Given the description of an element on the screen output the (x, y) to click on. 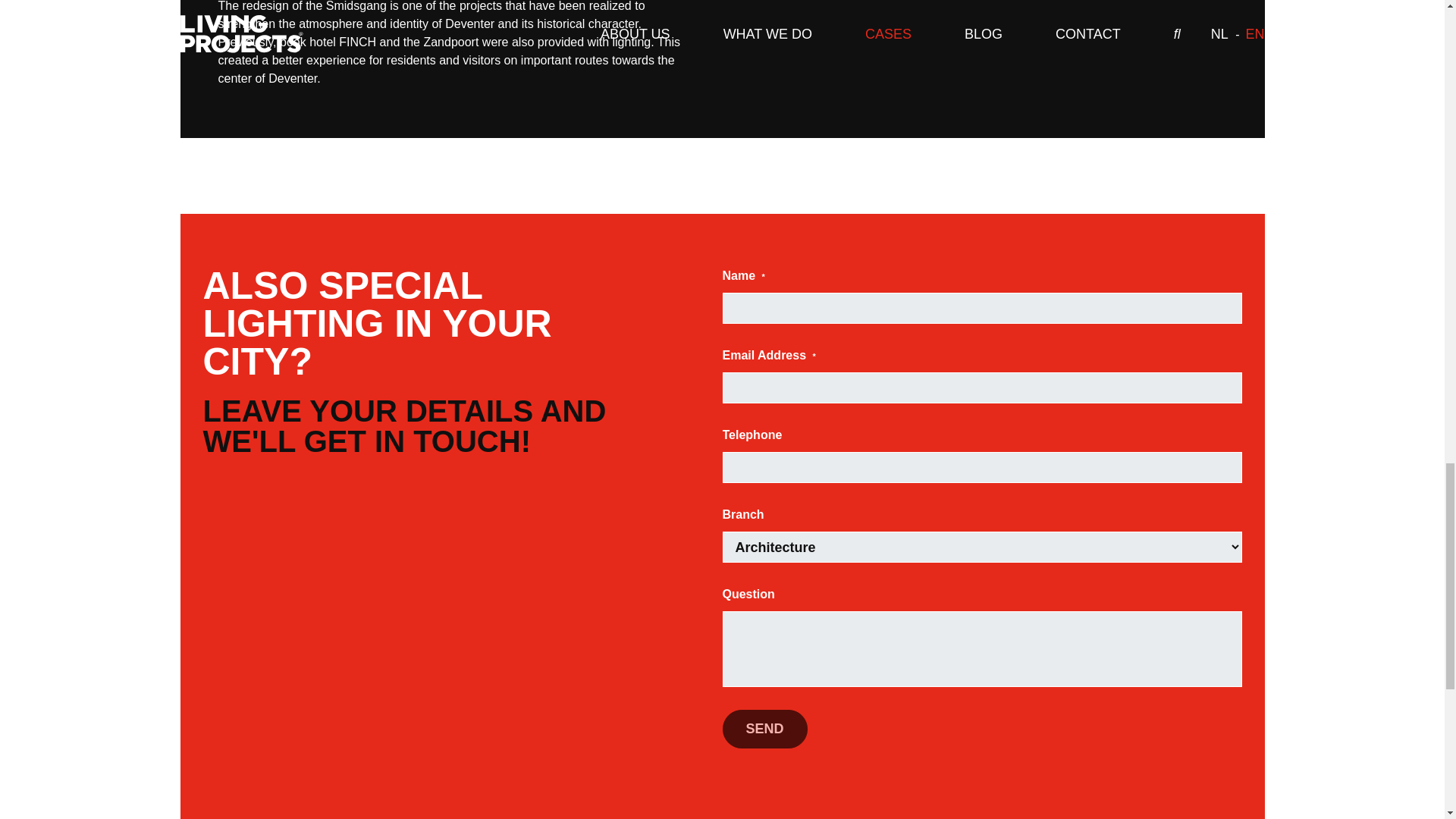
Send (764, 729)
Send (764, 729)
